Given the description of an element on the screen output the (x, y) to click on. 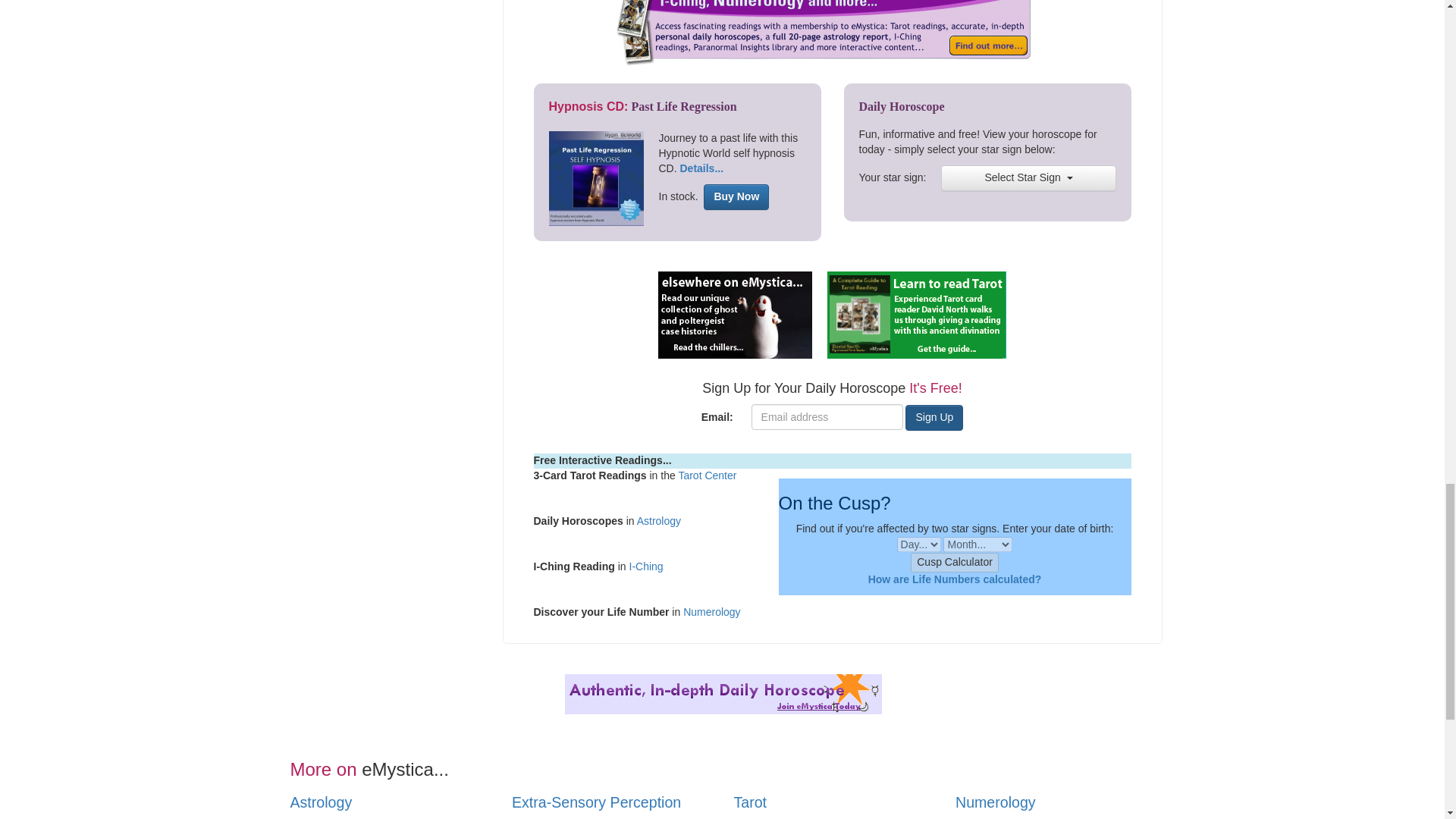
Sign Up (933, 417)
Cusp Calculator (954, 562)
